Given the description of an element on the screen output the (x, y) to click on. 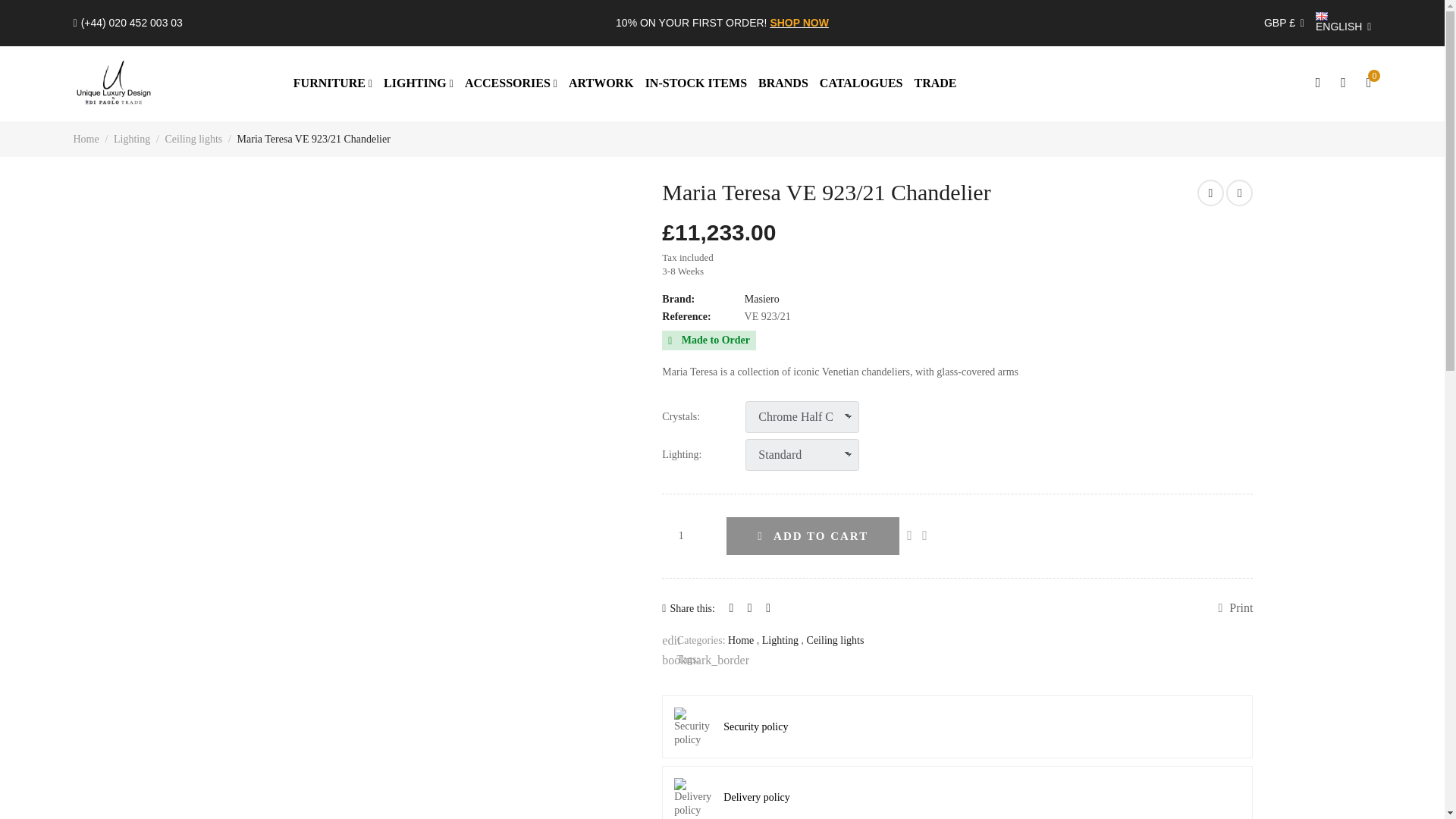
ENGLISH (1343, 22)
FURNITURE (333, 82)
1 (688, 535)
Glass VE 1050 TL1 Table Lamp (1238, 192)
